Given the description of an element on the screen output the (x, y) to click on. 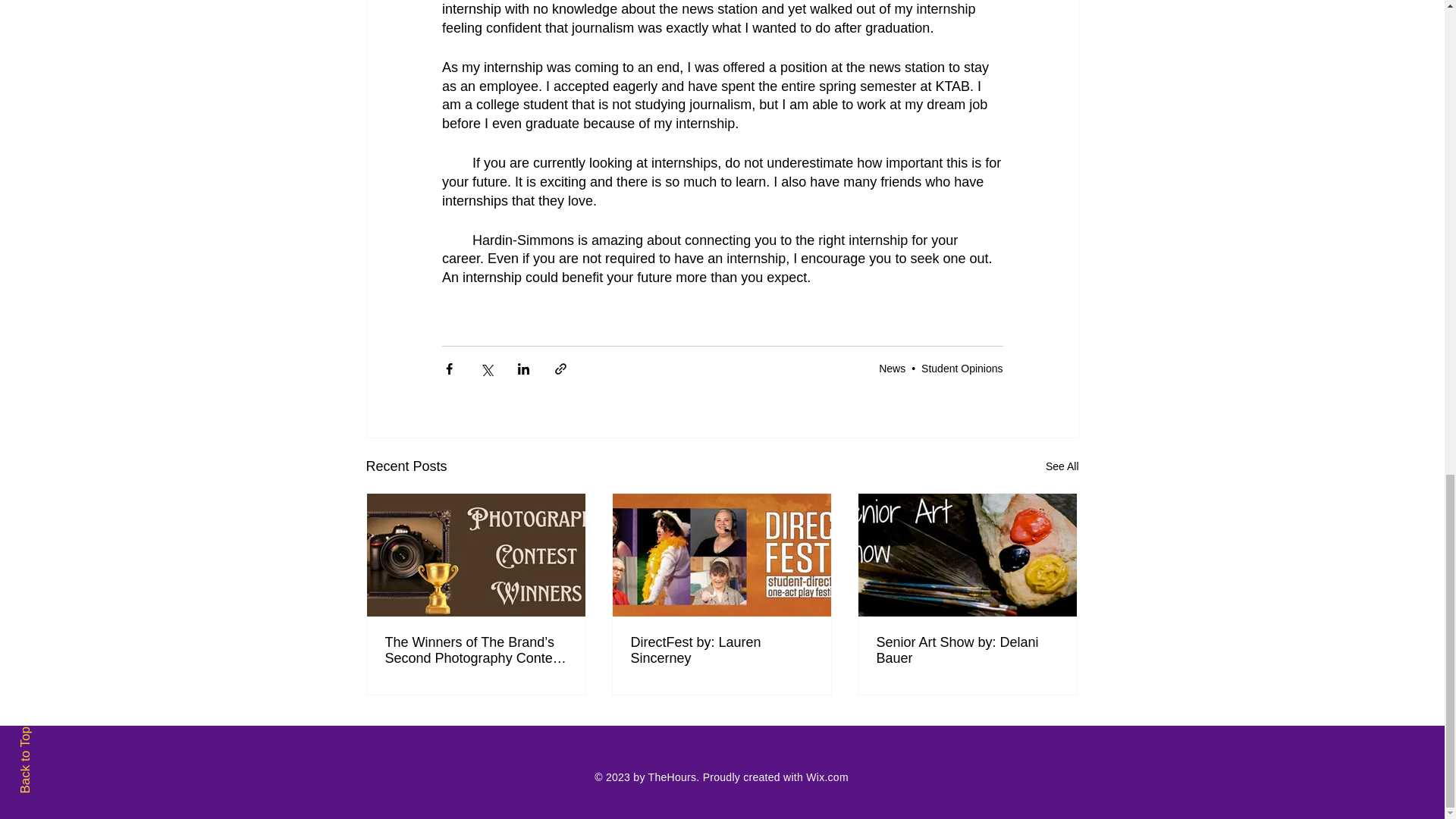
See All (1061, 466)
News (892, 368)
Senior Art Show by: Delani Bauer       (967, 650)
DirectFest by: Lauren Sincerney     (721, 650)
Student Opinions (962, 368)
Wix.com (827, 776)
